Given the description of an element on the screen output the (x, y) to click on. 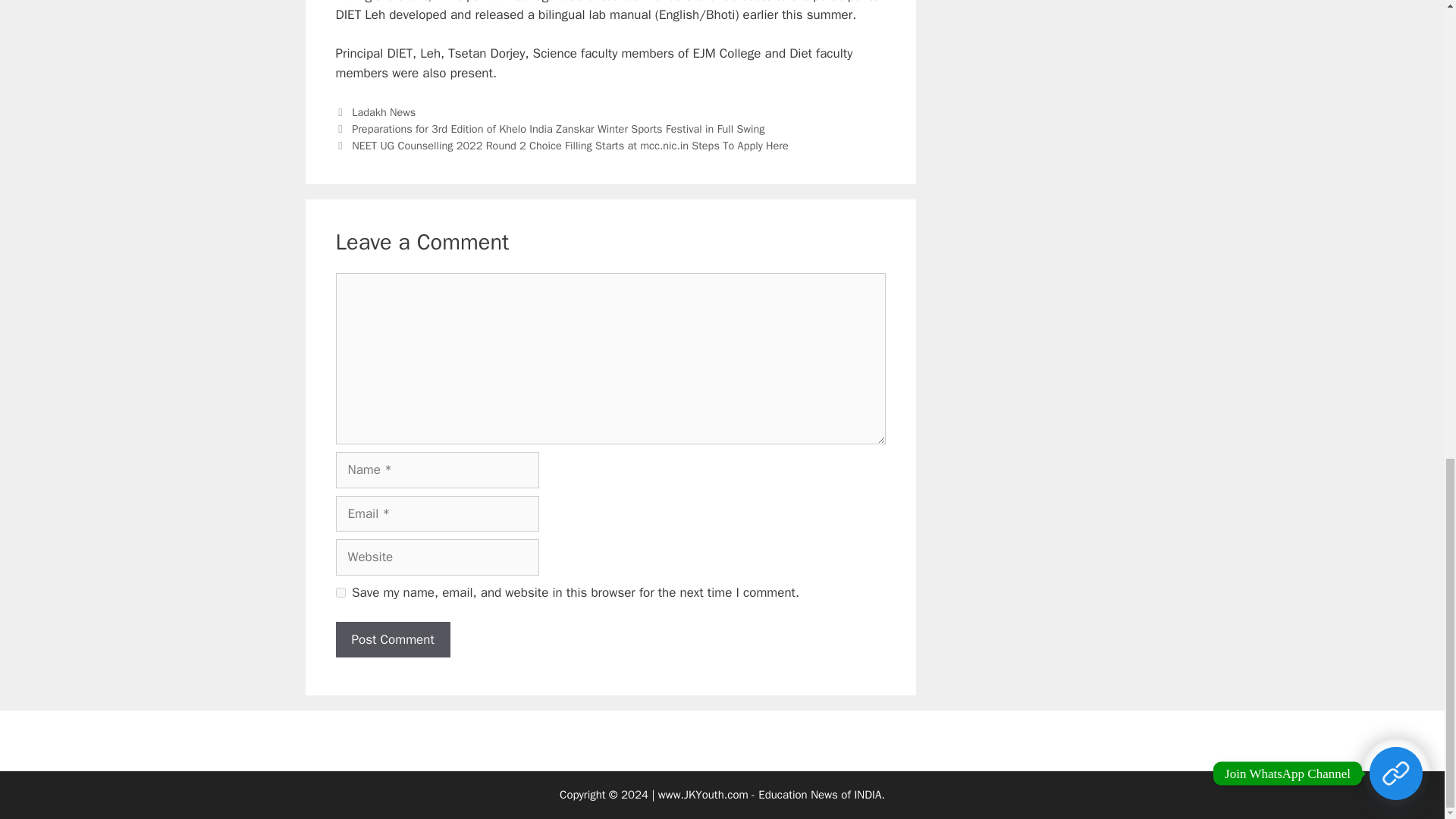
Post Comment (391, 639)
Ladakh News (383, 111)
yes (339, 592)
Post Comment (391, 639)
